Given the description of an element on the screen output the (x, y) to click on. 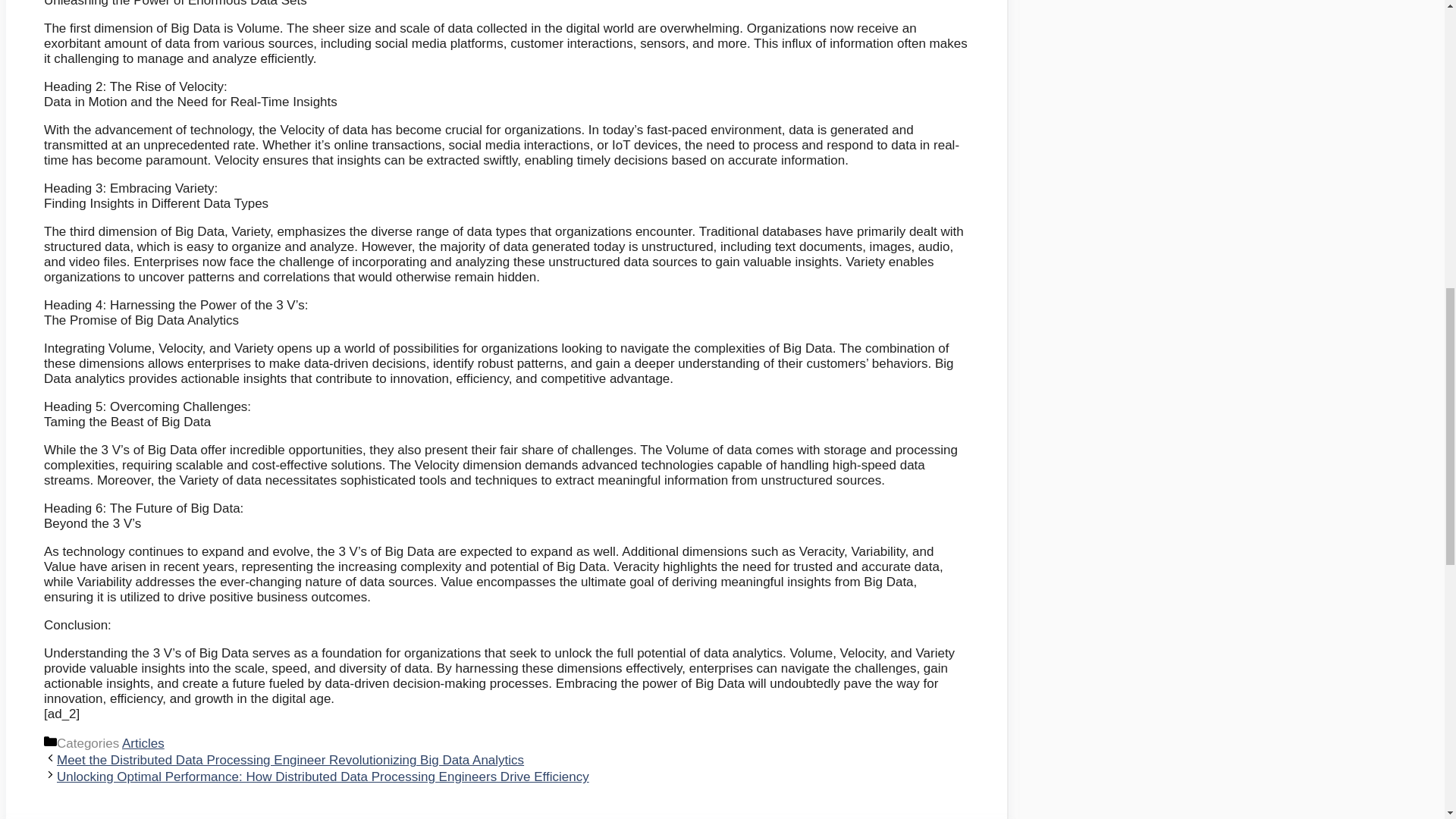
Articles (143, 743)
